Given the description of an element on the screen output the (x, y) to click on. 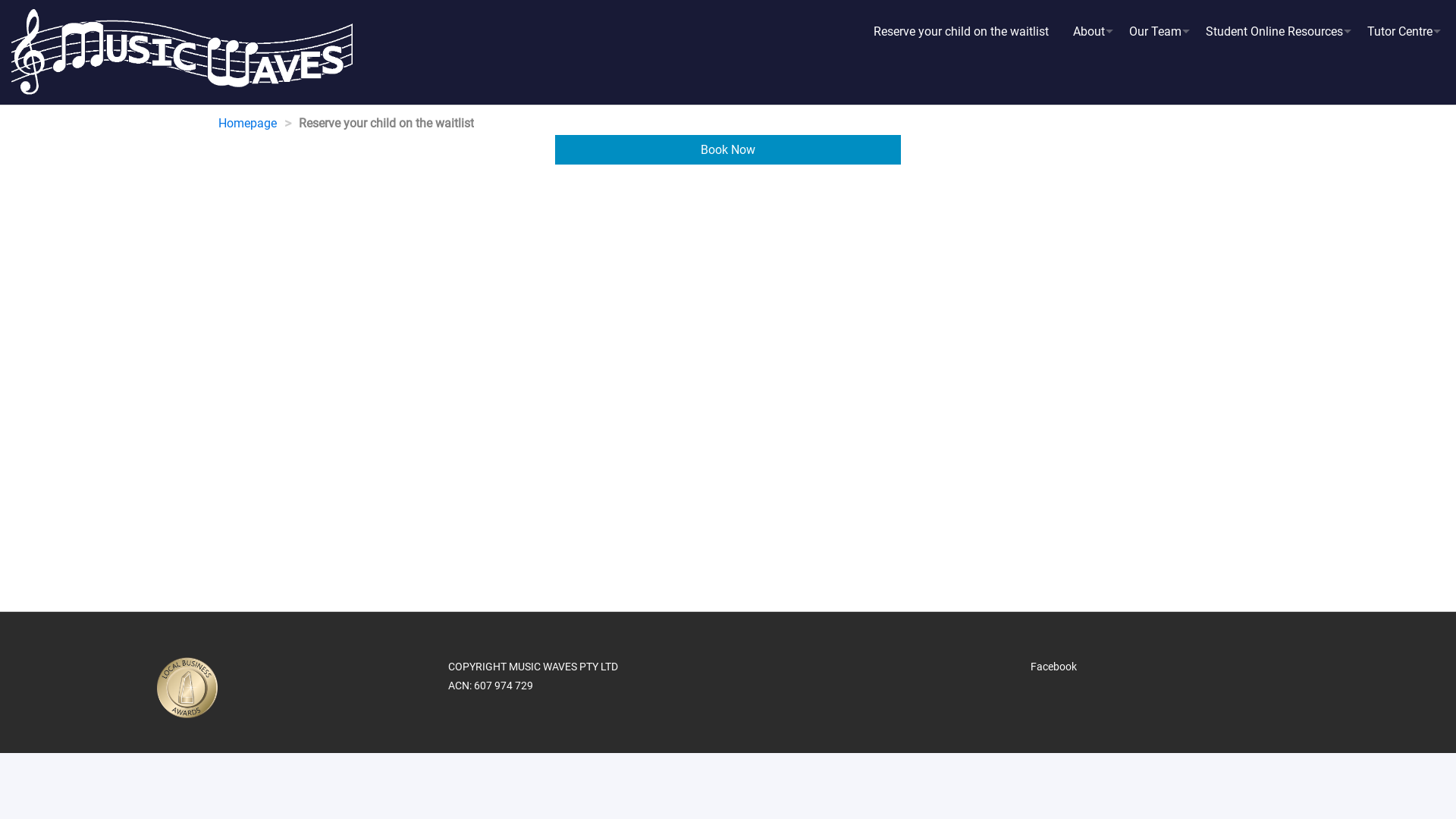
Homepage Element type: text (247, 123)
Tutor Centre Element type: text (1399, 31)
Our Team Element type: text (1155, 31)
Facebook Element type: text (1053, 666)
About Element type: text (1088, 31)
Book Now Element type: text (727, 149)
Reserve your child on the waitlist Element type: text (960, 31)
Student Online Resources Element type: text (1274, 31)
